Given the description of an element on the screen output the (x, y) to click on. 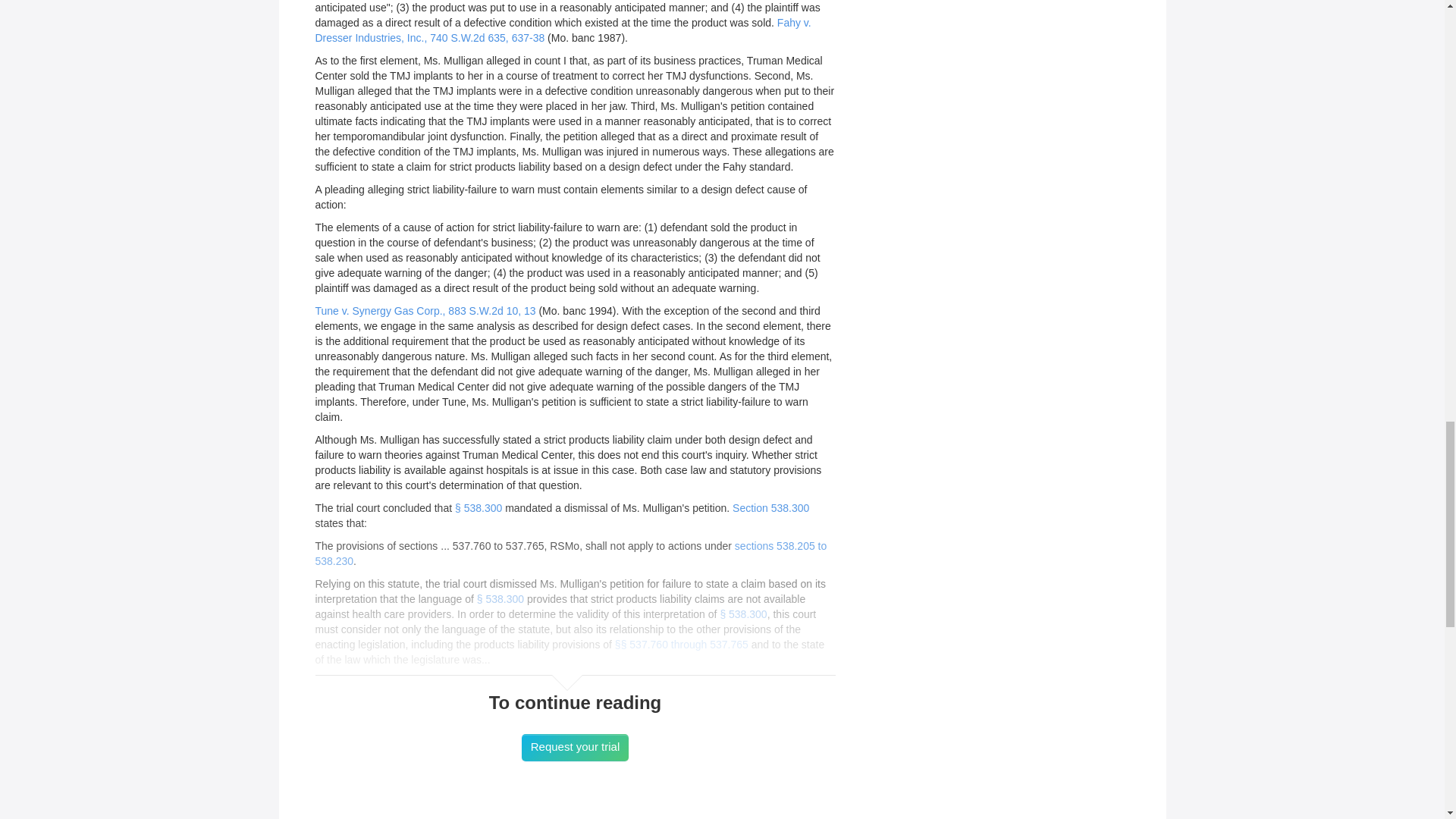
Section 538.300 (770, 508)
Fahy v. Dresser Industries, Inc., 740 S.W.2d 635, 637-38 (562, 30)
Tune v. Synergy Gas Corp., 883 S.W.2d 10, 13 (425, 310)
sections 538.205 to 538.230 (571, 553)
